Given the description of an element on the screen output the (x, y) to click on. 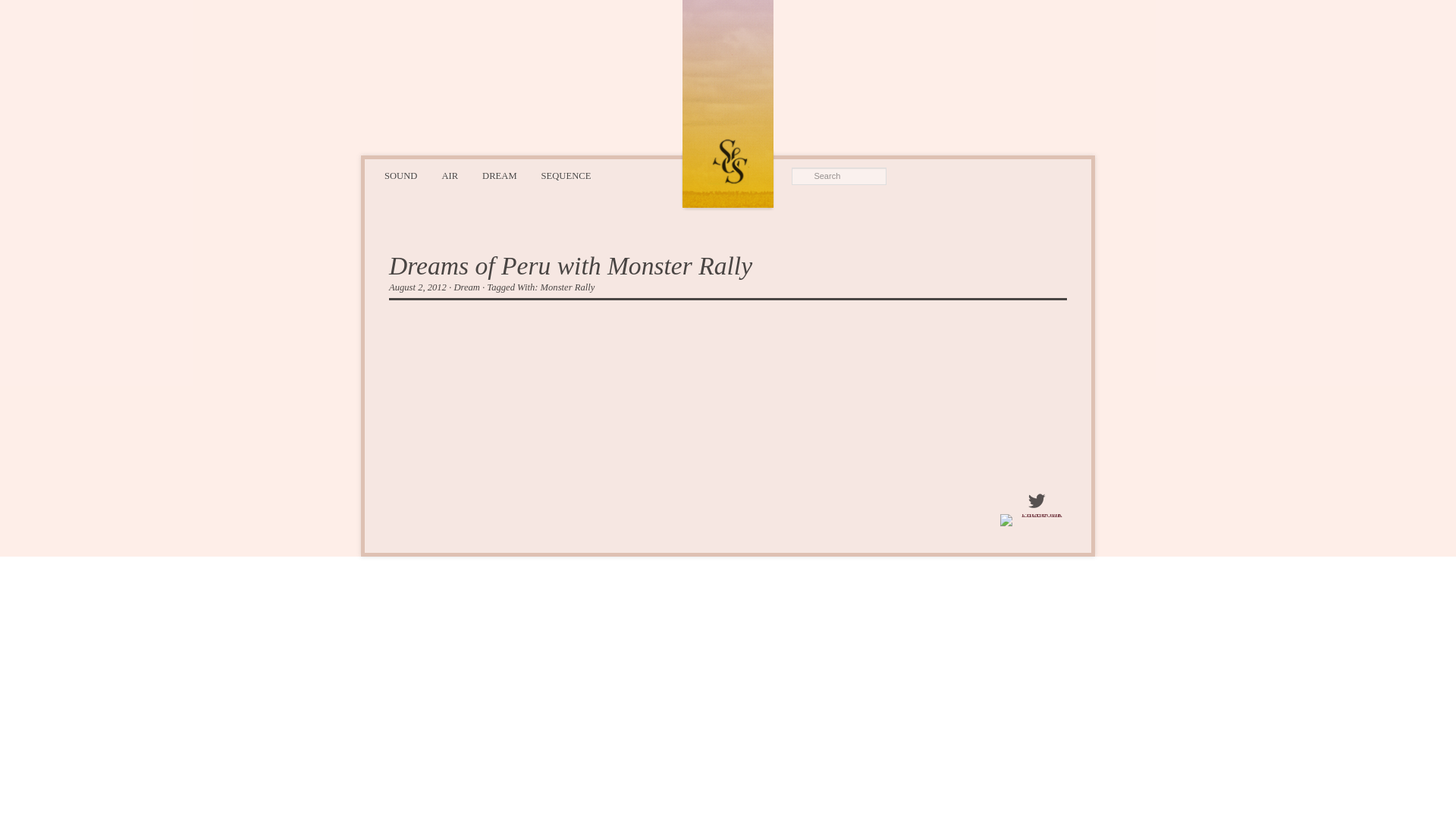
Share on Twitter (1035, 500)
AIR (449, 175)
Share on Facebook (1035, 520)
Dream (466, 286)
SOUND (400, 175)
SEQUENCE (566, 175)
DREAM (499, 175)
Monster Rally (567, 286)
